Given the description of an element on the screen output the (x, y) to click on. 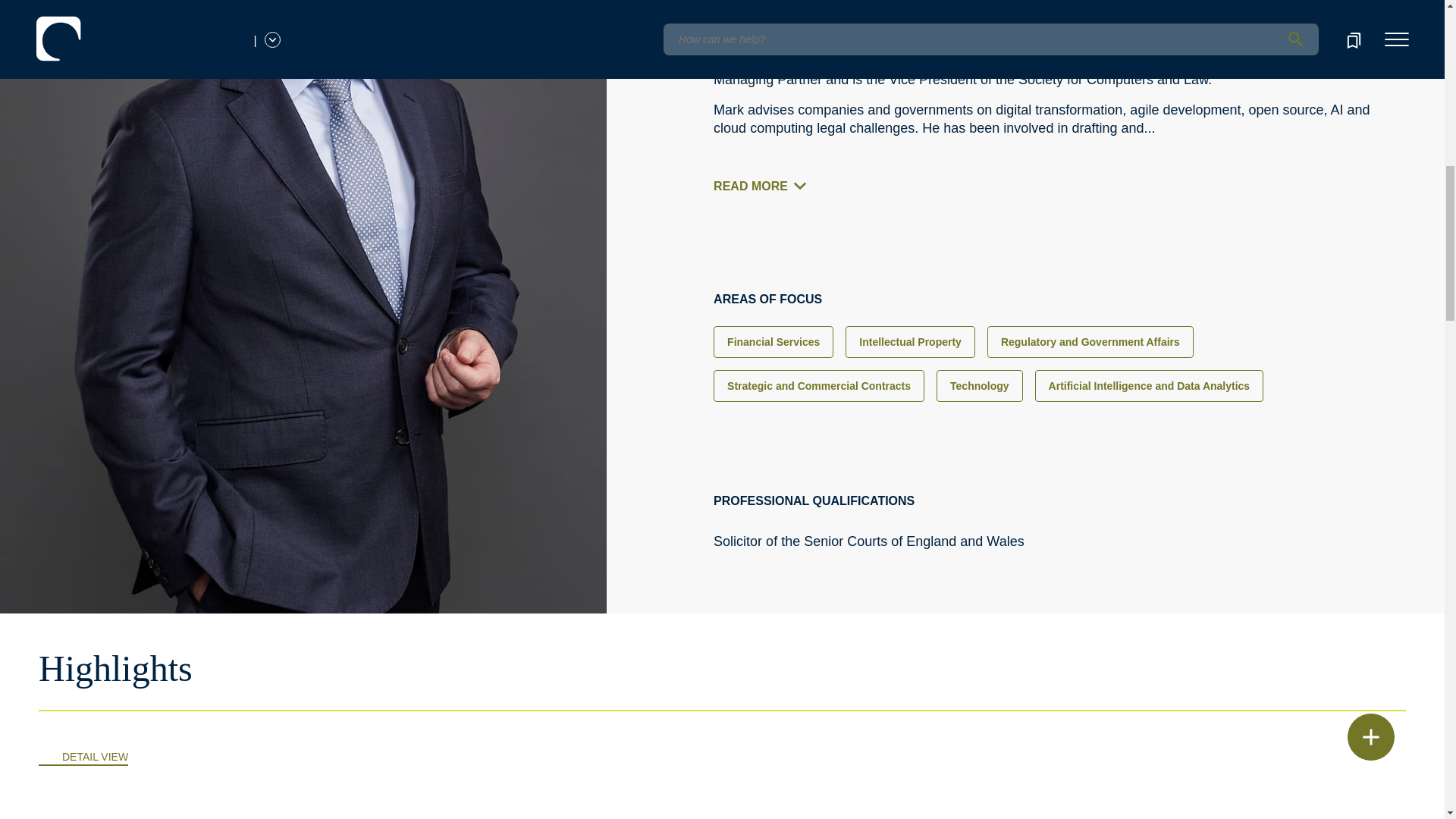
Strategic and Commercial Contracts (818, 386)
Financial Services (772, 341)
READ MORE (764, 186)
Intellectual Property (910, 341)
Regulatory and Government Affairs (1090, 341)
